Given the description of an element on the screen output the (x, y) to click on. 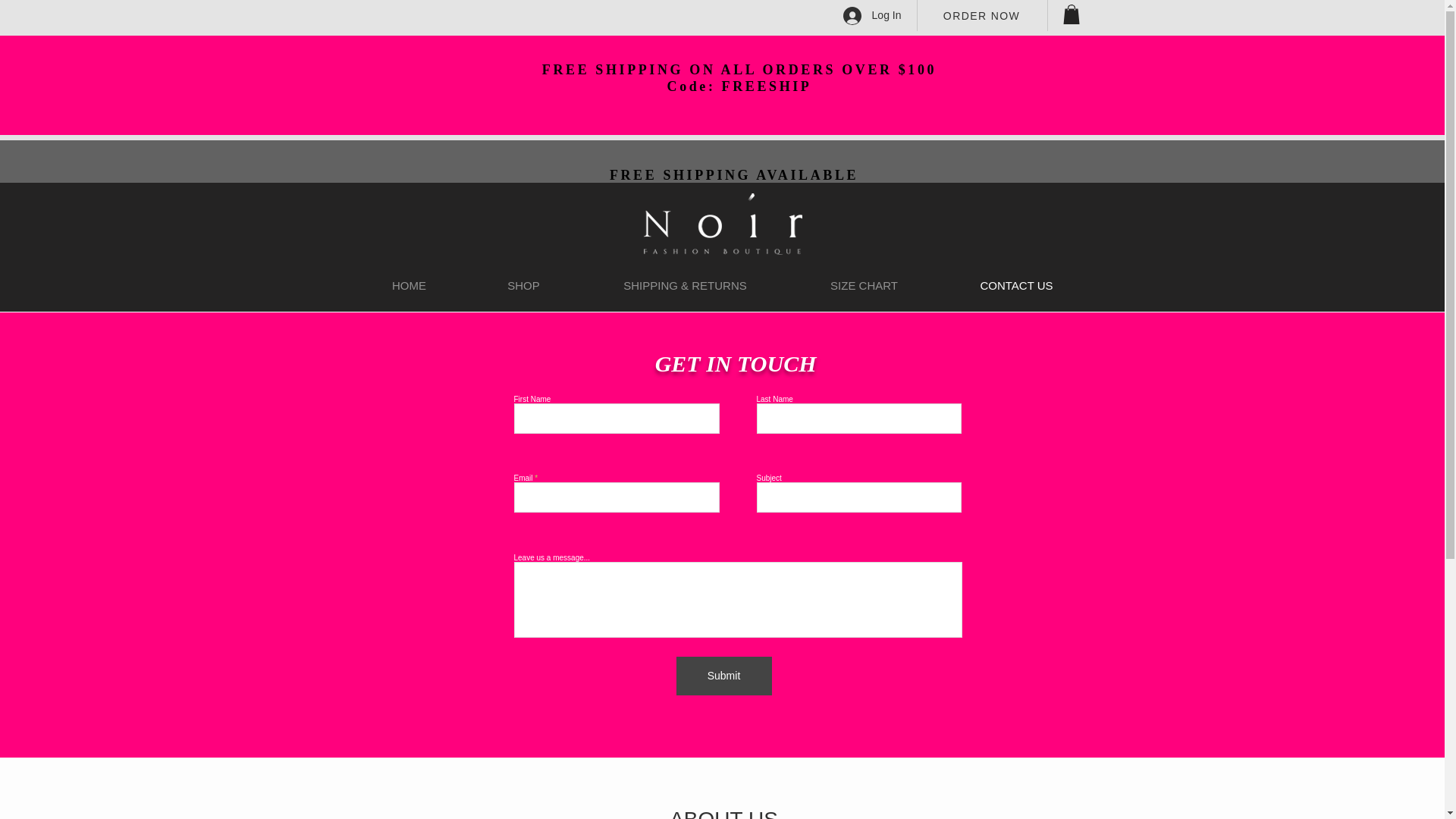
Submit (724, 675)
HOME (409, 285)
Log In (872, 15)
SIZE CHART (864, 285)
CONTACT US (1016, 285)
